Given the description of an element on the screen output the (x, y) to click on. 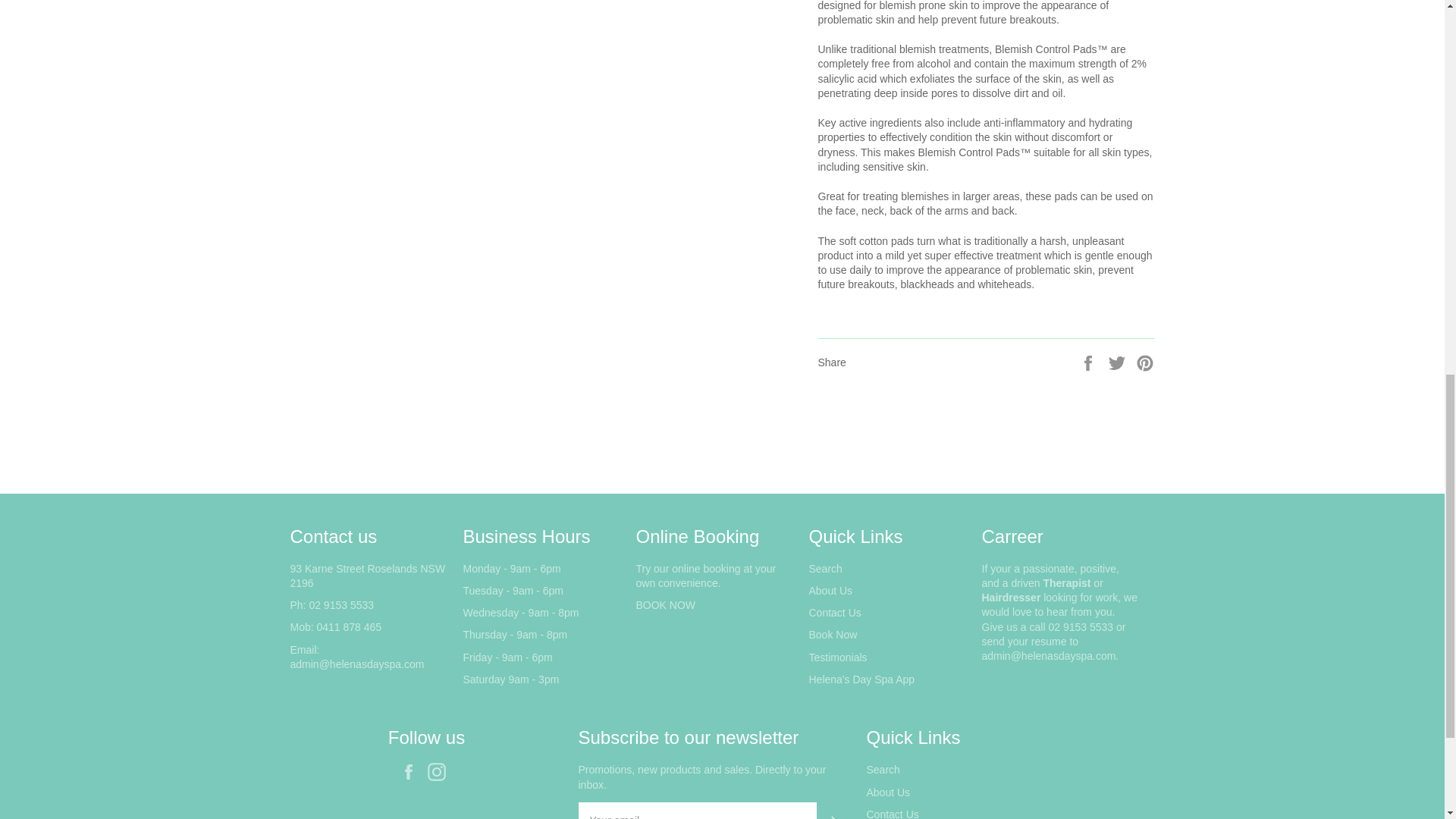
Share on Facebook (1089, 361)
Tweet on Twitter (1118, 361)
Helenas Day Spa on Instagram (440, 771)
Helenas Day Spa on Facebook (411, 771)
Pin on Pinterest (1144, 361)
